Given the description of an element on the screen output the (x, y) to click on. 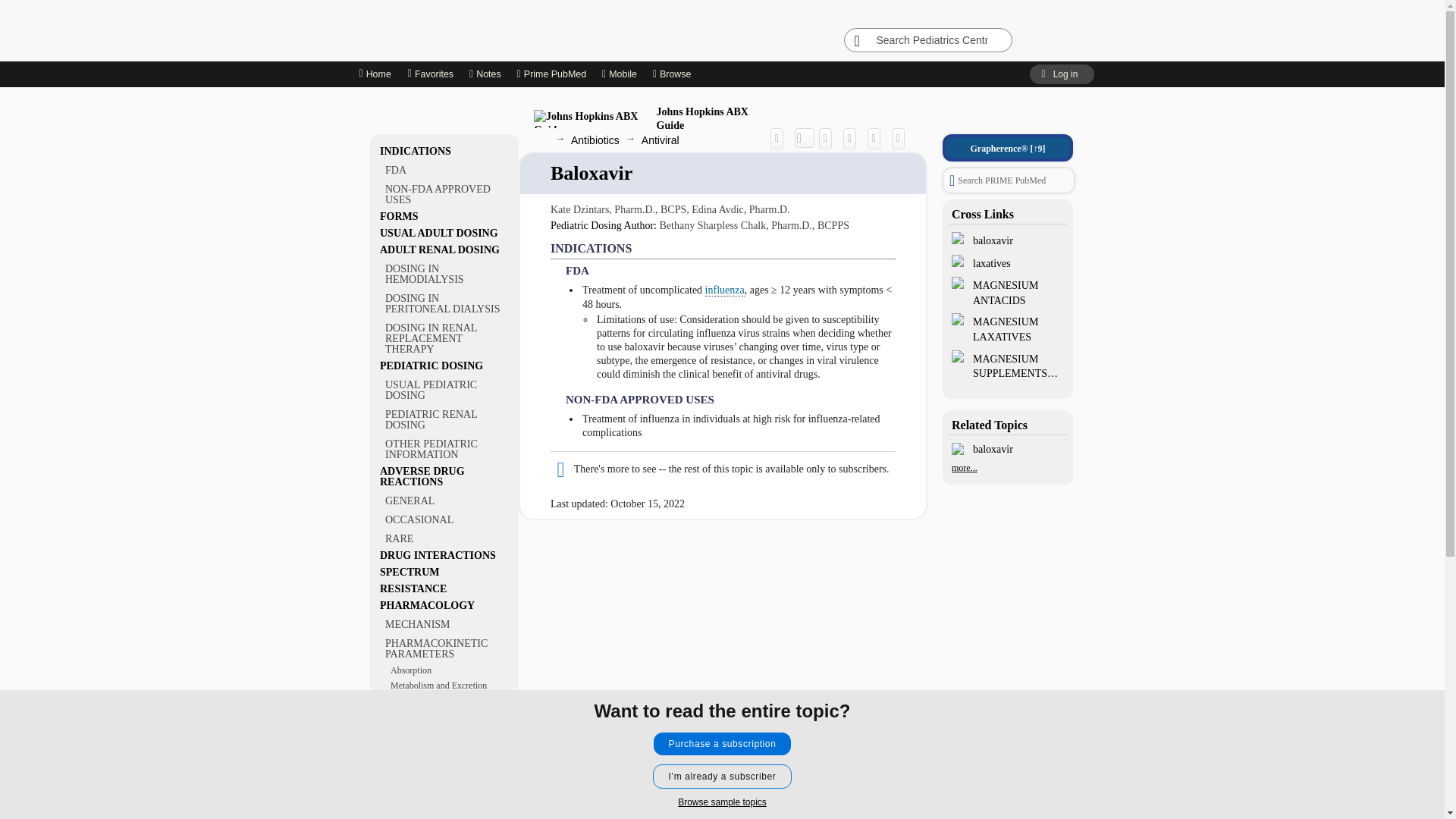
Antibiotics (595, 140)
Favorite (877, 137)
Prime PubMed (551, 73)
Create Citation (829, 137)
Prime PubMed (551, 73)
Share (780, 137)
Home (373, 73)
Antiviral (660, 140)
Johns Hopkins ABX Guide (649, 118)
laxatives (1007, 262)
